Given the description of an element on the screen output the (x, y) to click on. 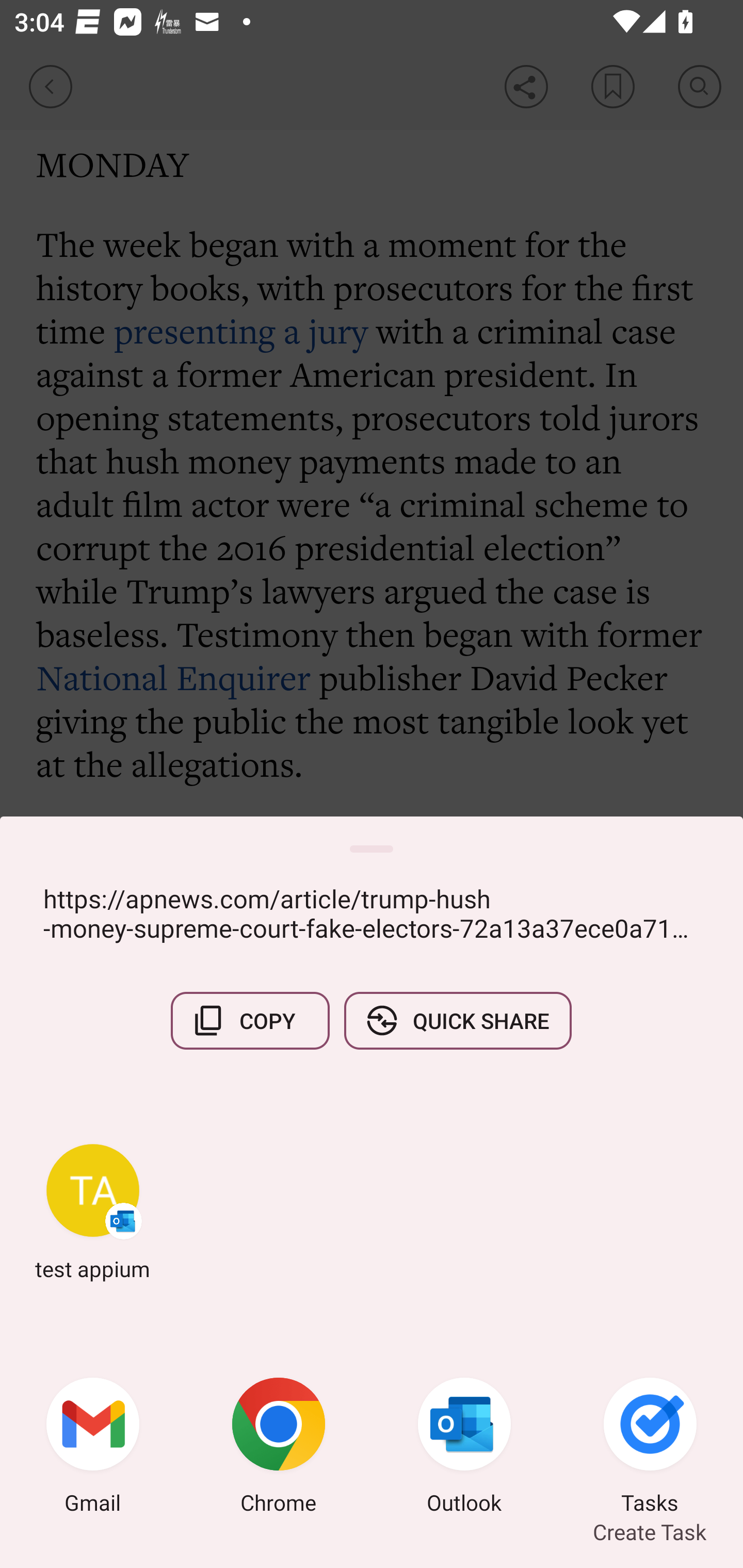
COPY (249, 1020)
QUICK SHARE (457, 1020)
test appium  Outlook test appium (92, 1212)
Gmail (92, 1448)
Chrome (278, 1448)
Outlook (464, 1448)
Tasks Create Task (650, 1448)
